Given the description of an element on the screen output the (x, y) to click on. 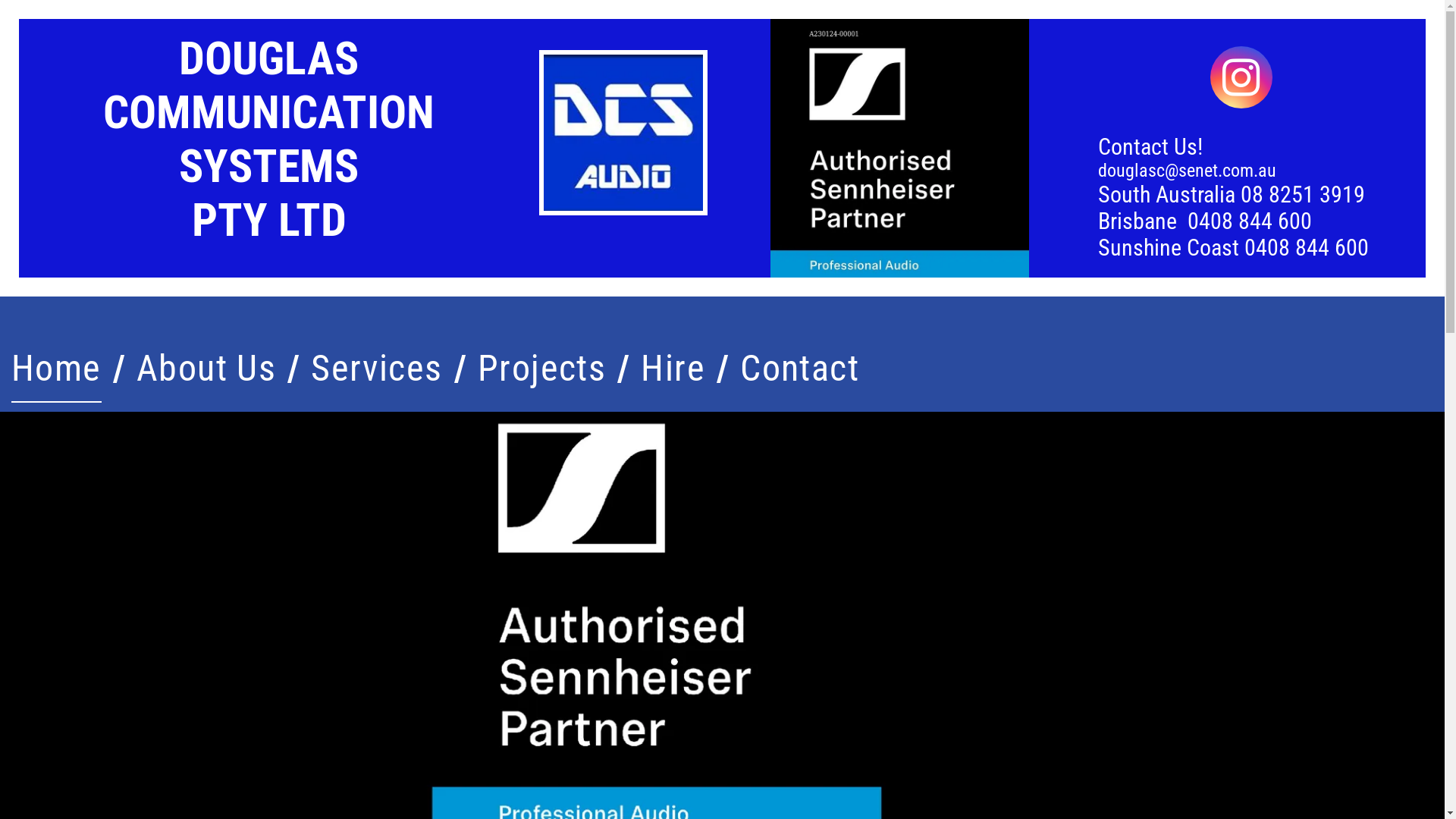
ouglasc@senet.com.au Element type: text (1191, 170)
Services Element type: text (376, 368)
08 8251 3919 Element type: text (1302, 194)
Hire Element type: text (672, 368)
0408 844 600 Element type: text (1249, 220)
About Us Element type: text (206, 368)
Projects Element type: text (542, 368)
Home Element type: text (56, 368)
Contact Element type: text (799, 368)
